Given the description of an element on the screen output the (x, y) to click on. 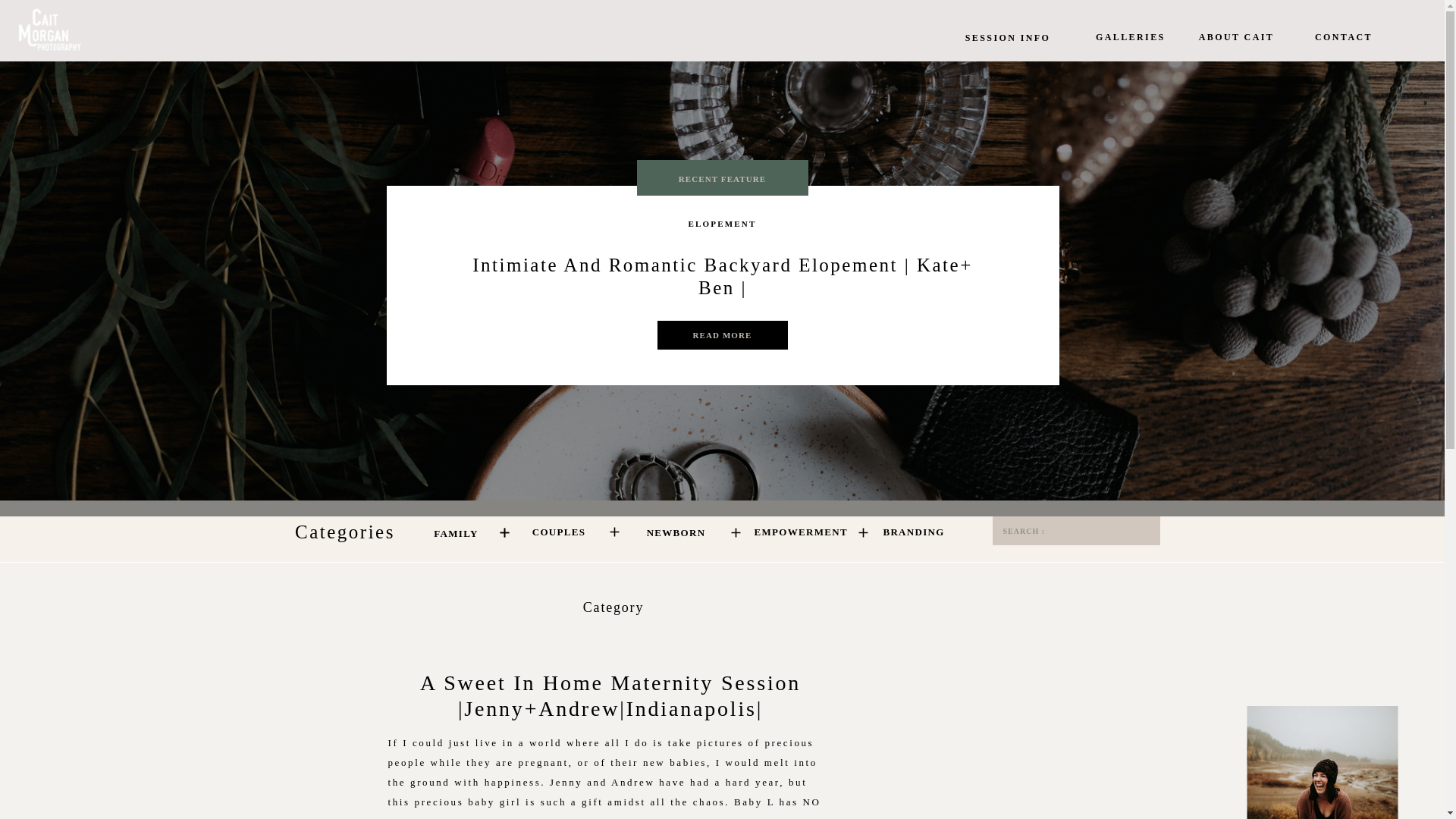
ABOUT CAIT (1236, 36)
READ MORE (722, 335)
ELOPEMENT (721, 223)
SESSION INFO (1007, 36)
CONTACT (1342, 36)
GALLERIES (1127, 36)
